Given the description of an element on the screen output the (x, y) to click on. 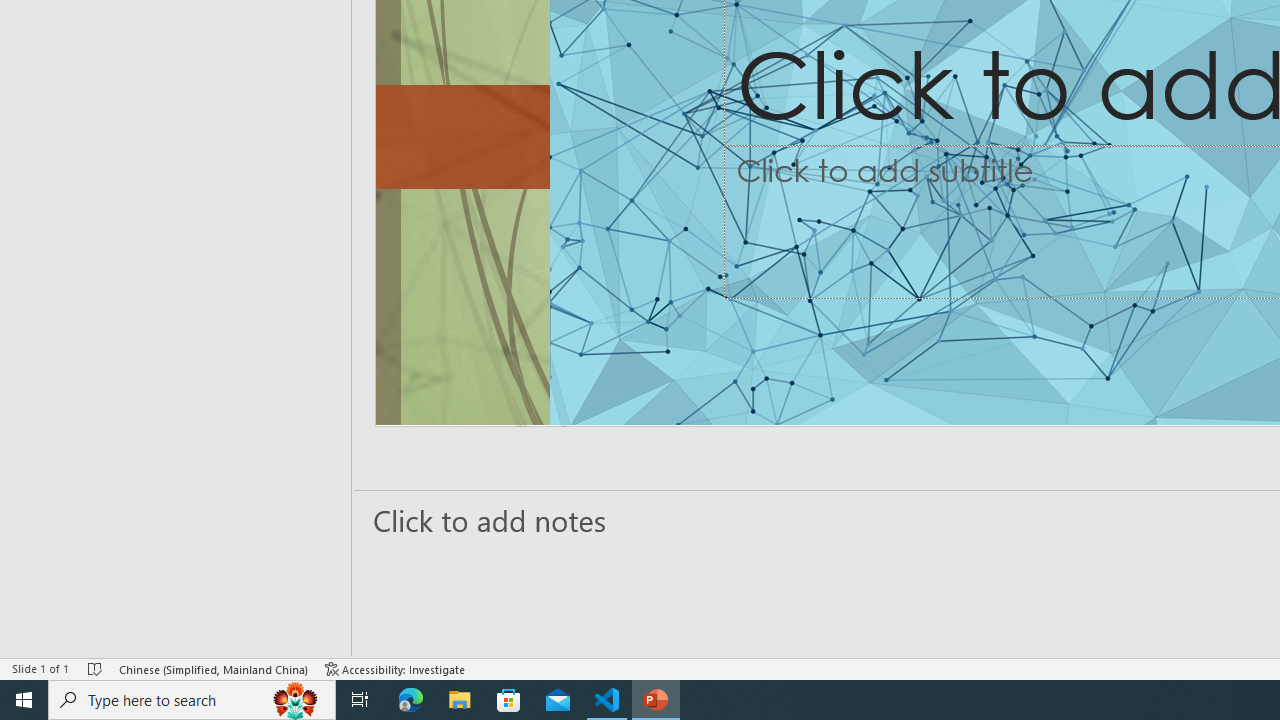
Accessibility Checker Accessibility: Investigate (395, 668)
Spell Check No Errors (95, 668)
